Given the description of an element on the screen output the (x, y) to click on. 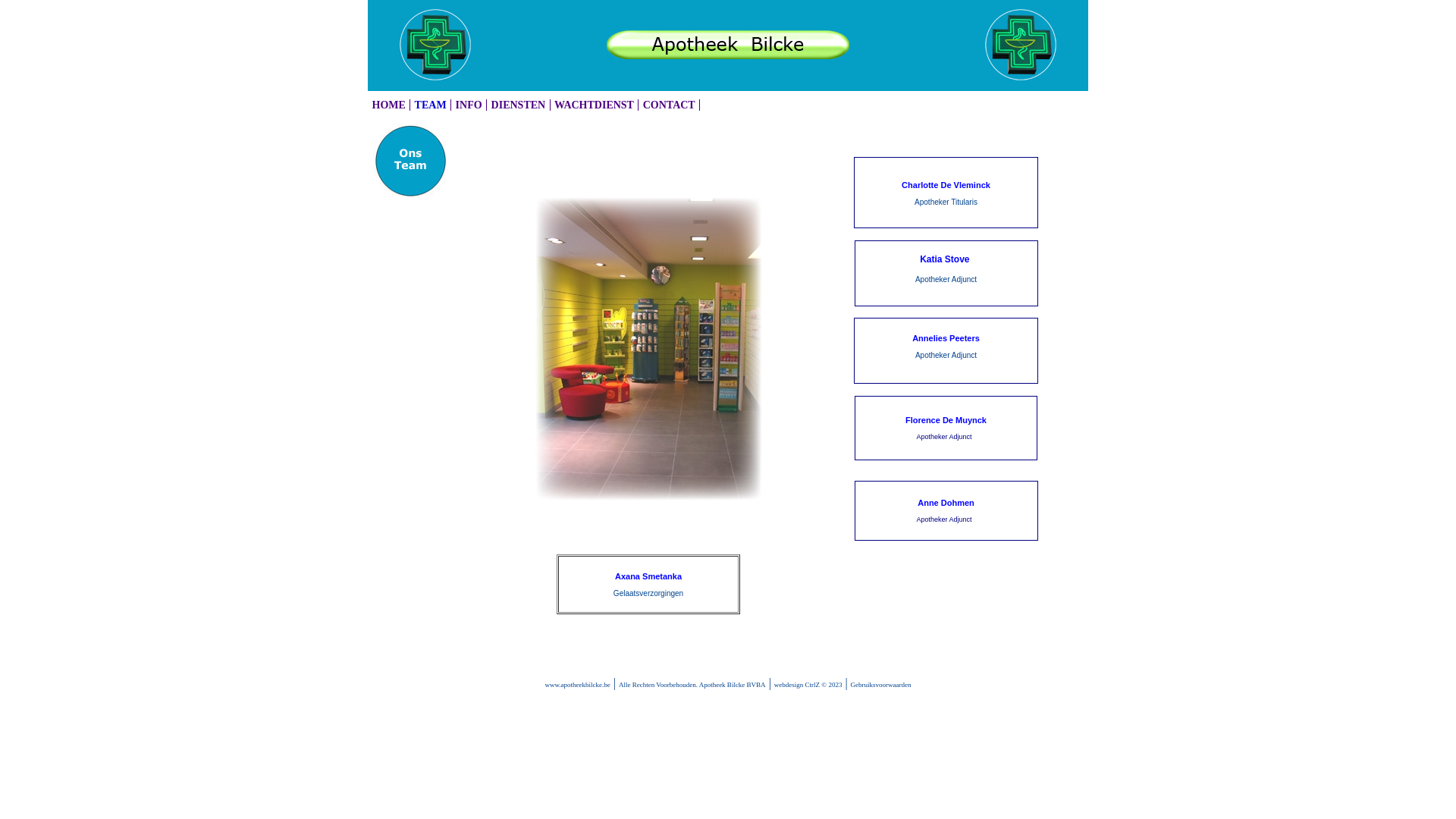
 TEAM  Element type: text (430, 104)
 DIENSTEN  Element type: text (518, 104)
 INFO  Element type: text (468, 104)
 WACHTDIENST  Element type: text (594, 104)
 CONTACT  Element type: text (668, 104)
Gebruiksvoorwaarden Element type: text (880, 684)
Alle Rechten Voorbehouden. Apotheek Bilcke BVBA Element type: text (691, 684)
 HOME  Element type: text (388, 104)
www.apotheekbilcke.be Element type: text (576, 684)
